Given the description of an element on the screen output the (x, y) to click on. 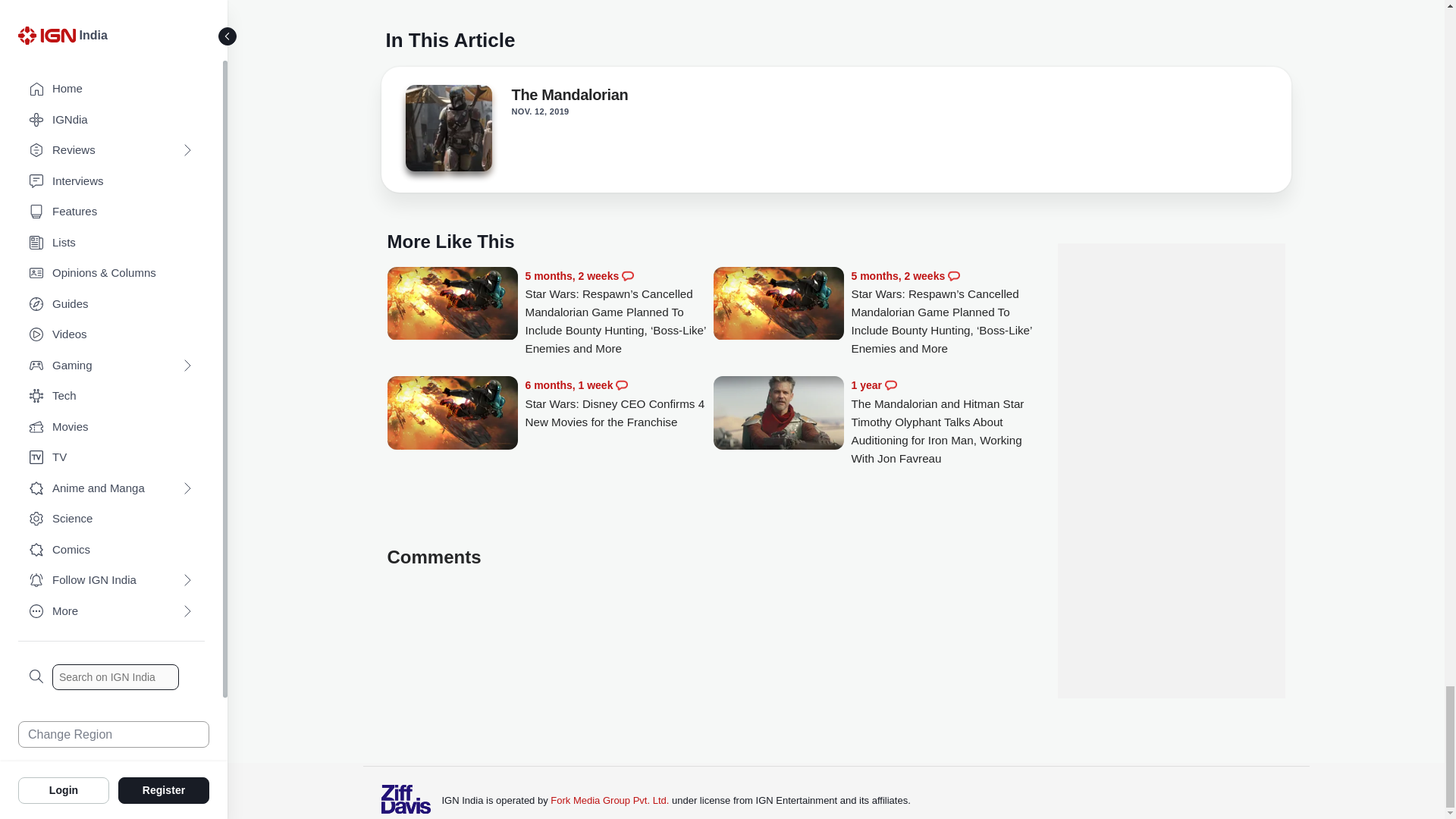
The Mandalorian (448, 132)
The Mandalorian (569, 97)
The Mandalorian (448, 128)
